Given the description of an element on the screen output the (x, y) to click on. 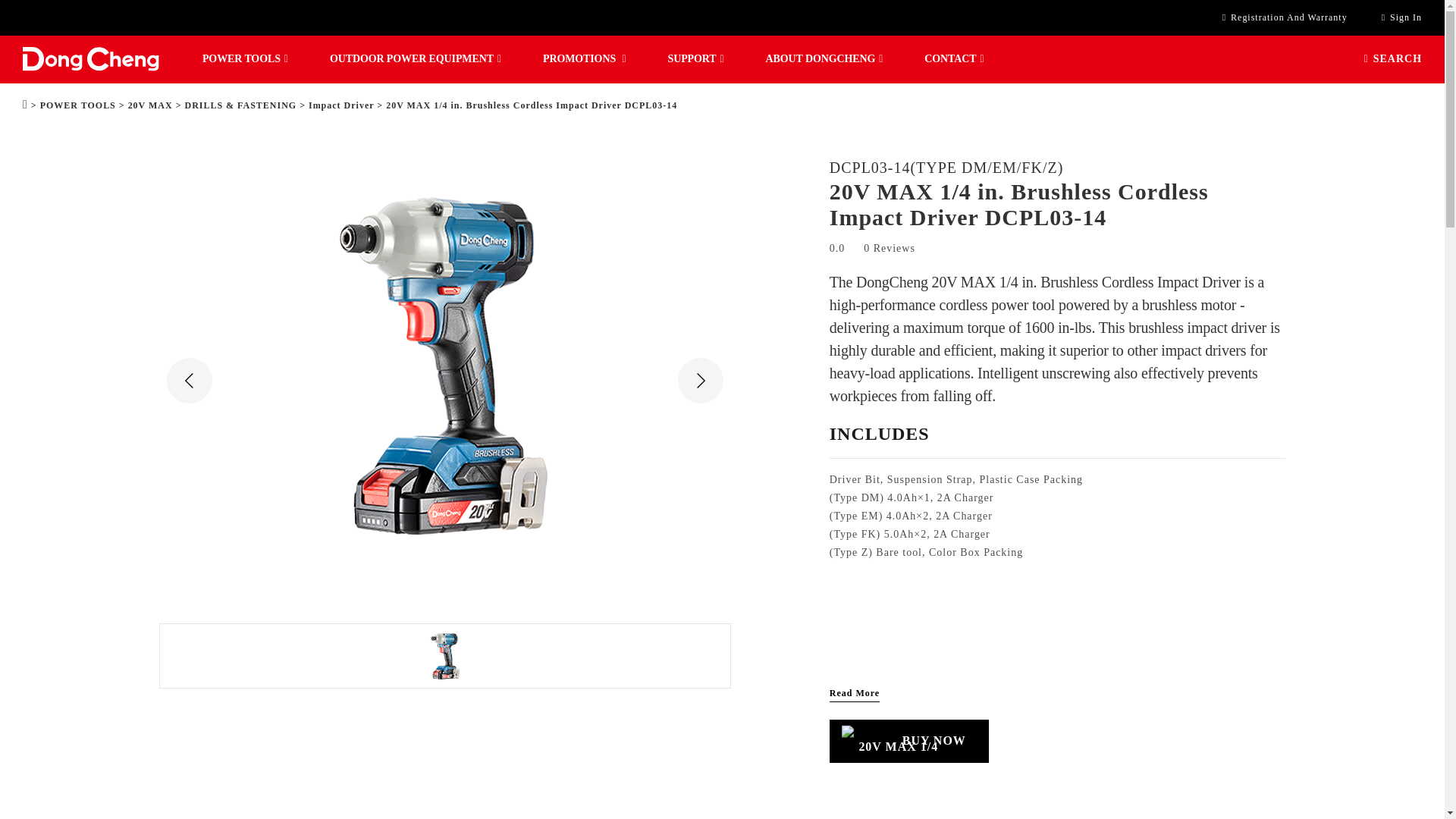
Registration And Warranty (1285, 18)
Sign In (1401, 18)
POWER TOOLS (245, 59)
